Given the description of an element on the screen output the (x, y) to click on. 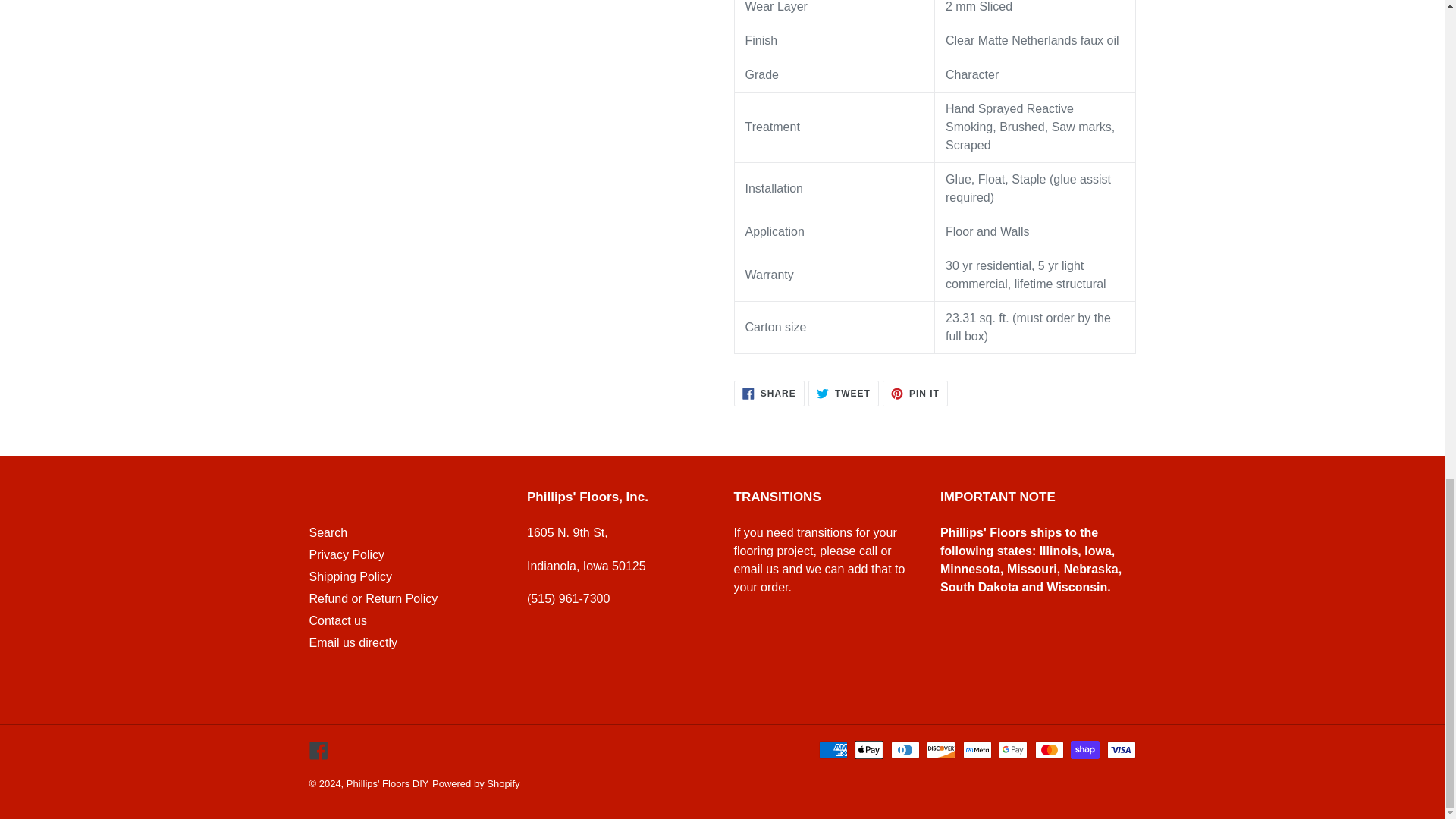
Email us directly (352, 642)
Search (327, 532)
Powered by Shopify (475, 783)
Facebook (318, 749)
Shipping Policy (769, 393)
Contact us (349, 576)
Refund or Return Policy (337, 620)
Phillips' Floors DIY (914, 393)
Privacy Policy (843, 393)
